Given the description of an element on the screen output the (x, y) to click on. 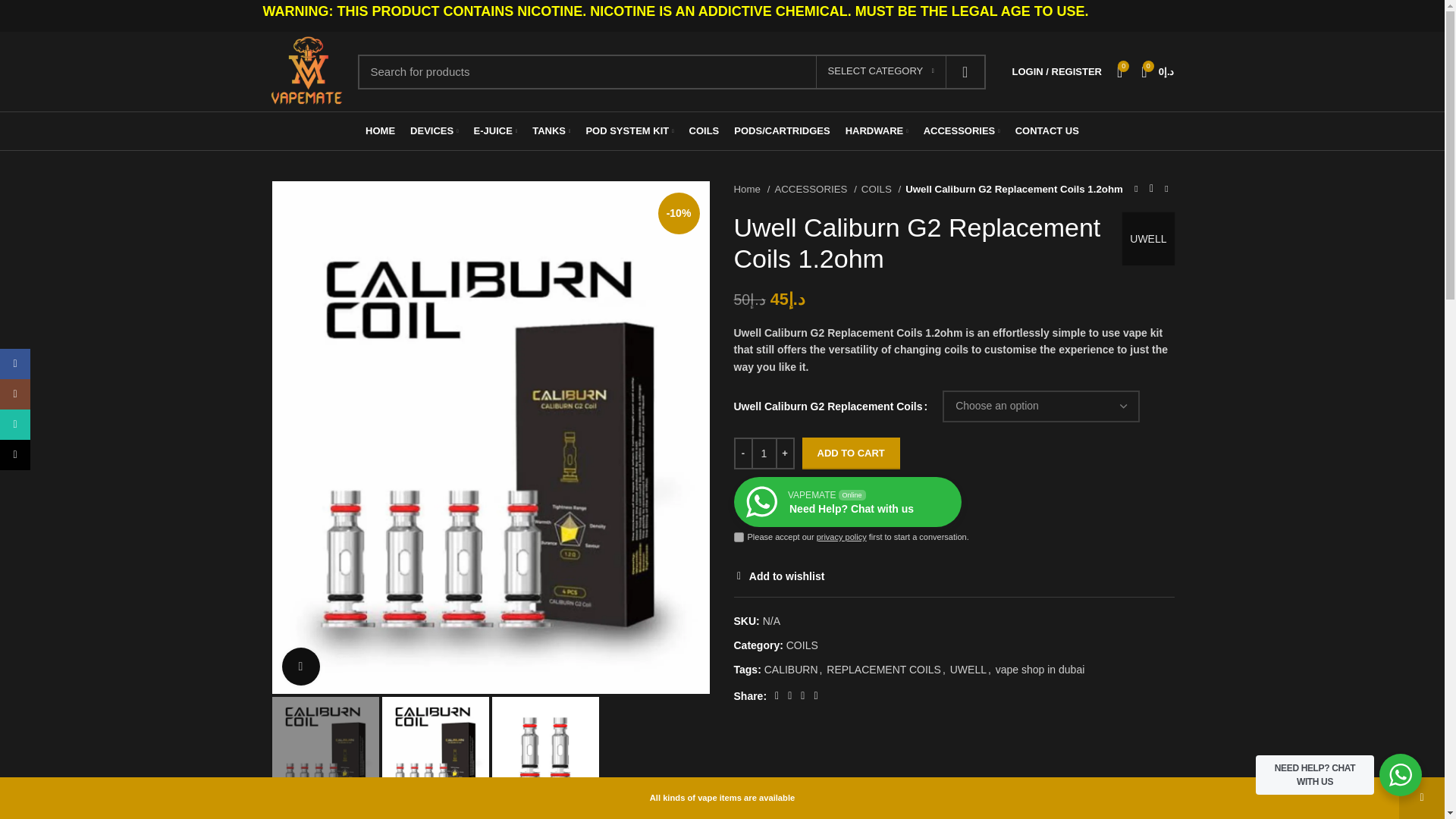
Shopping cart (1157, 71)
Search for products (671, 71)
- (742, 453)
accept (738, 537)
SELECT CATEGORY (880, 71)
My account (1056, 71)
Qty (763, 453)
1 (763, 453)
805609CF-8A67-4540-BC5A-F06B646B1480 (324, 749)
My Wishlist (1119, 71)
805609CF-8A67-4540-BC5A-F06B646B1480 (435, 749)
SELECT CATEGORY (880, 71)
